Given the description of an element on the screen output the (x, y) to click on. 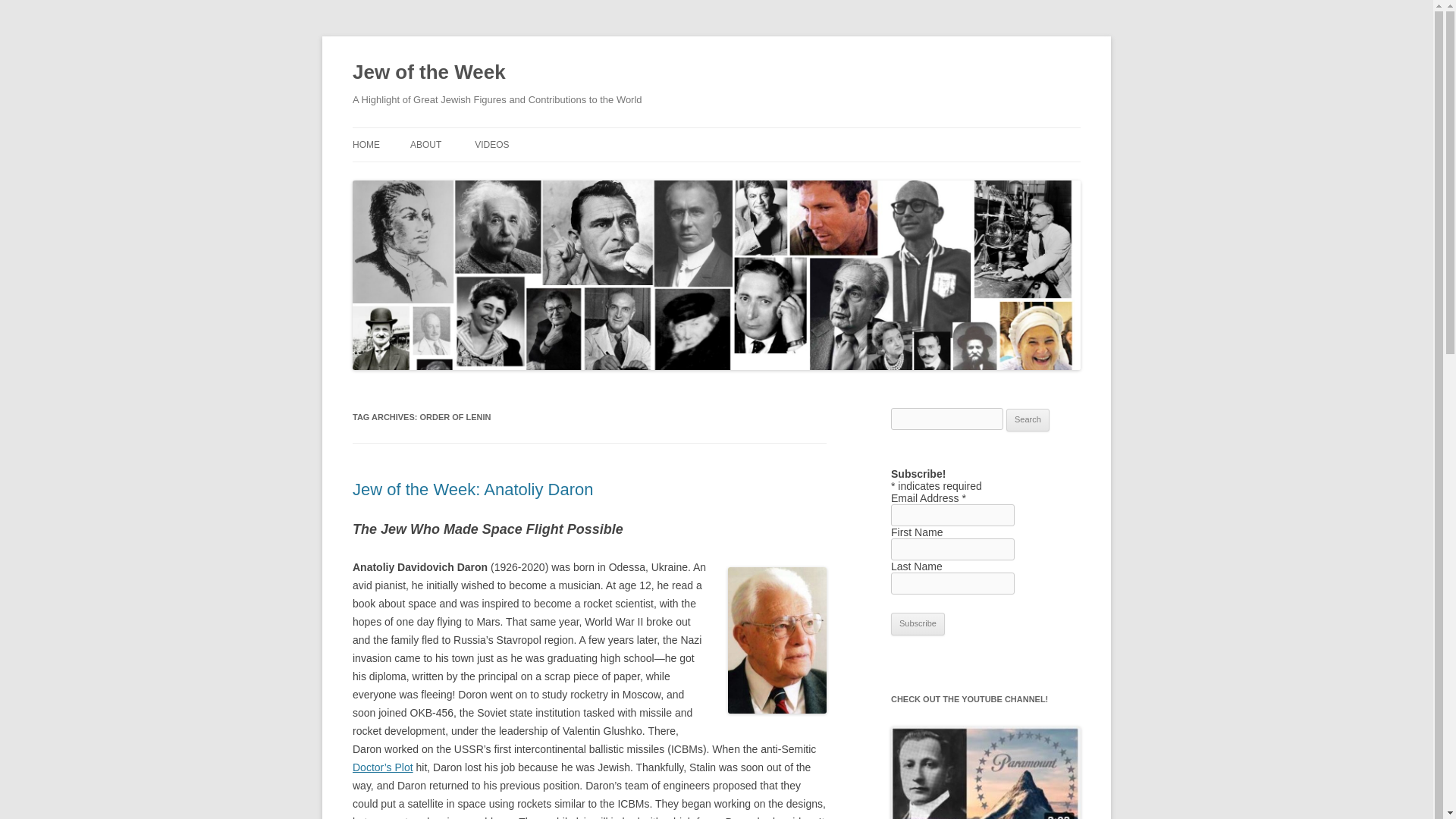
Search (1027, 419)
VIDEOS (491, 144)
ABOUT (425, 144)
Subscribe (917, 623)
Search (1027, 419)
Subscribe (917, 623)
Jew of the Week (428, 72)
Jew of the Week: Anatoliy Daron (473, 488)
Jew of the Week (428, 72)
